Given the description of an element on the screen output the (x, y) to click on. 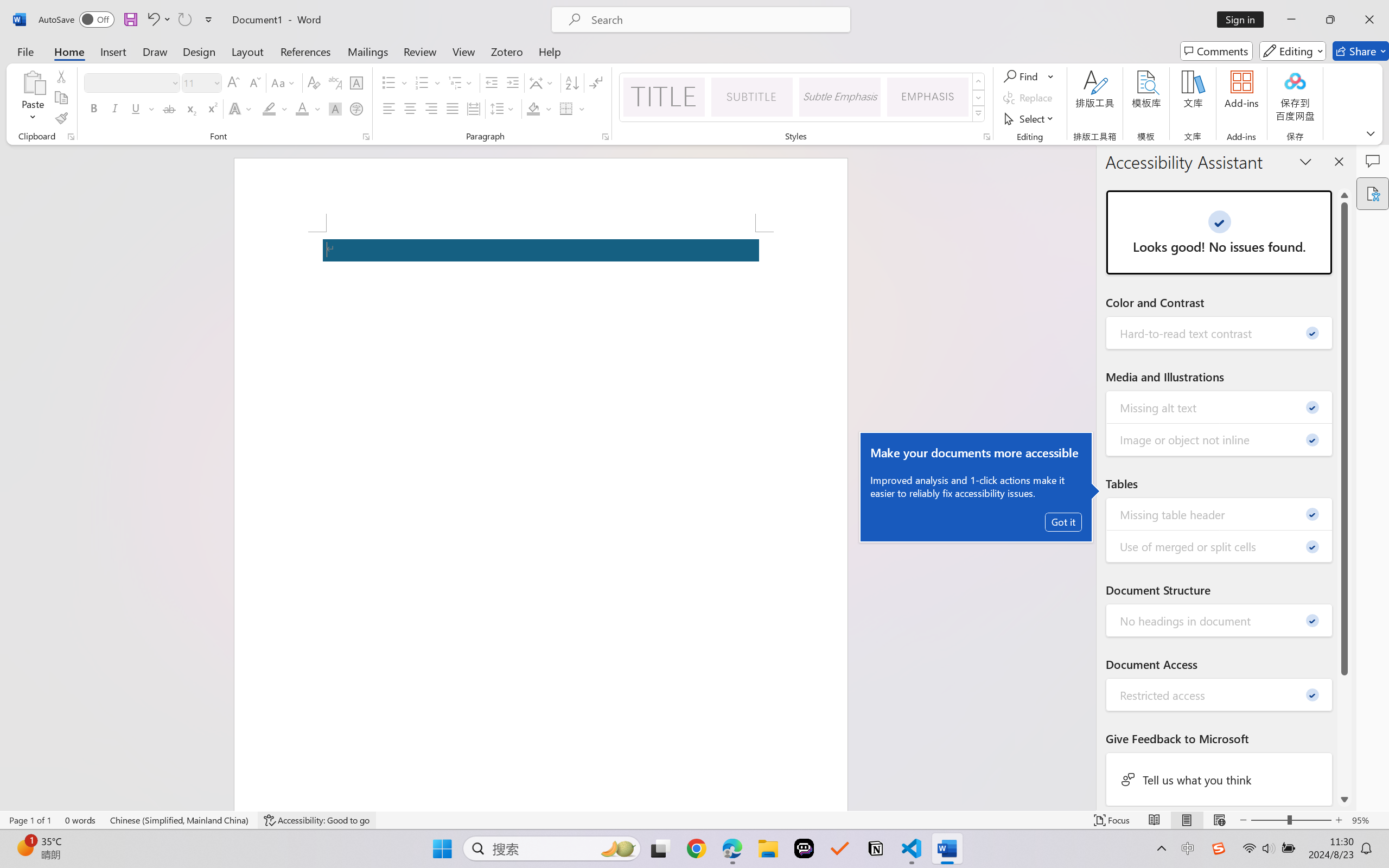
Looks good! No issues found. (1218, 232)
Subtitle (751, 96)
Line up (1344, 195)
